Given the description of an element on the screen output the (x, y) to click on. 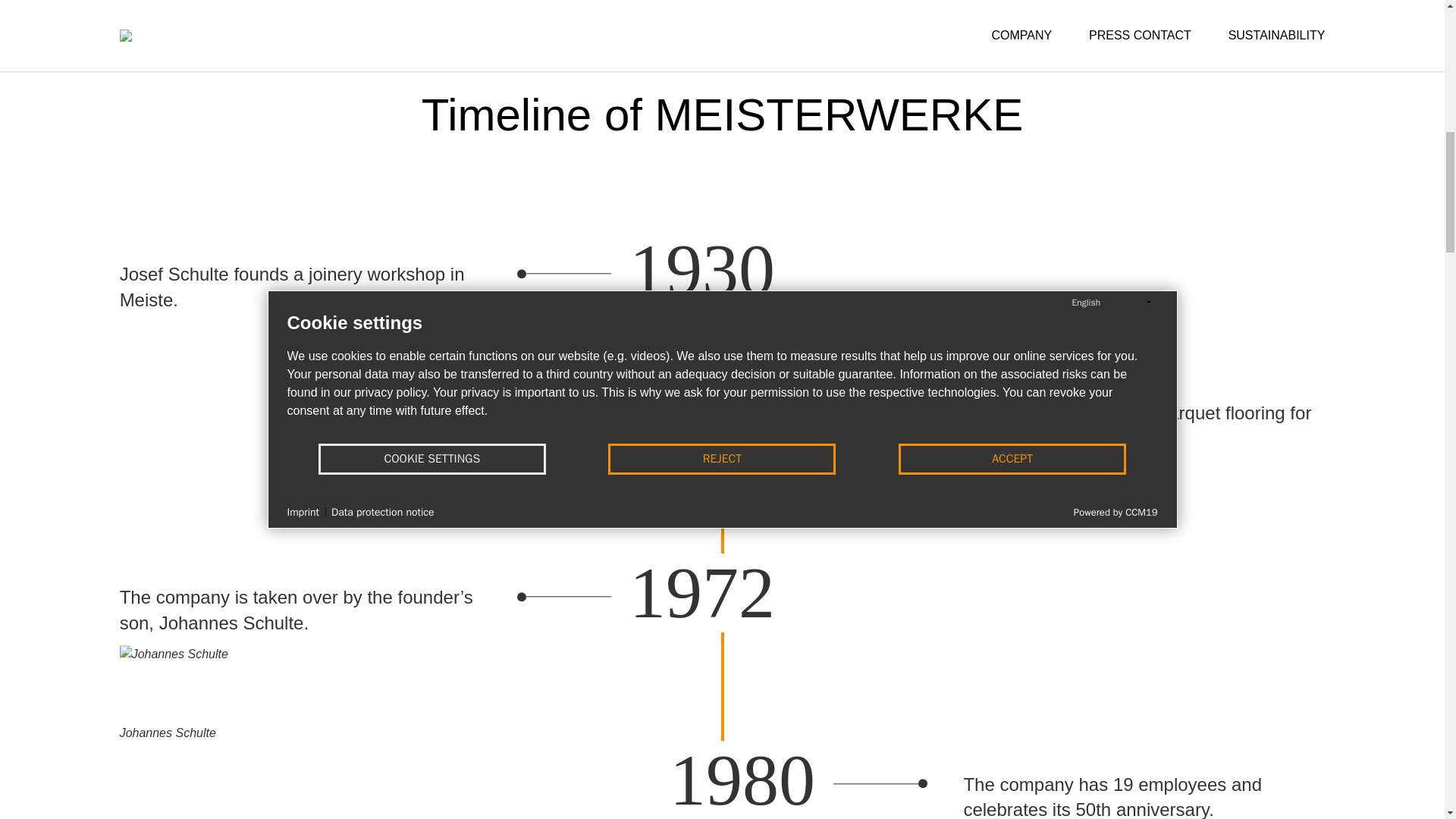
Johannes Schulte  (191, 681)
